Given the description of an element on the screen output the (x, y) to click on. 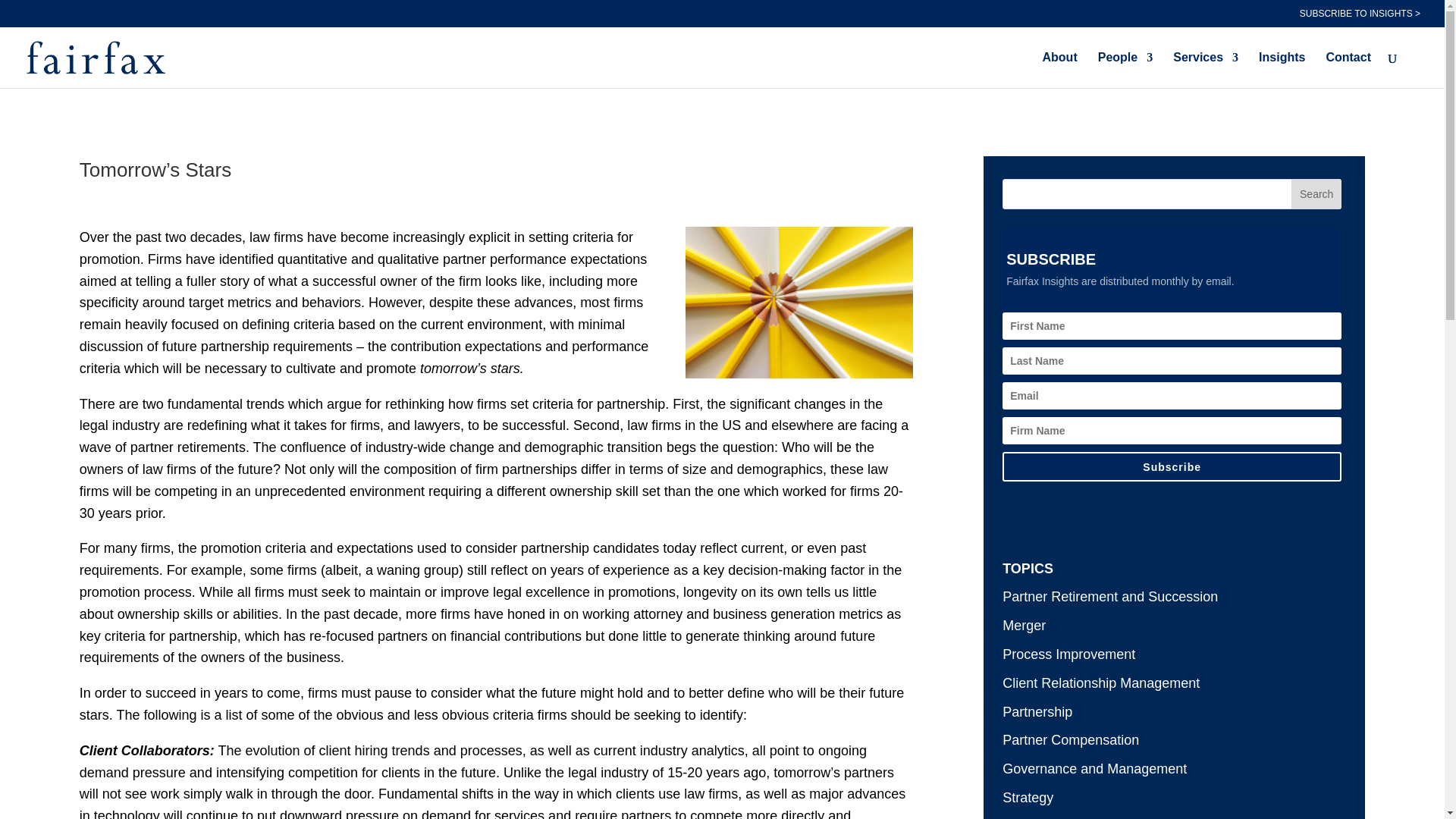
Insights (1281, 69)
Services (1206, 69)
Contact (1347, 69)
Subscribe (1171, 466)
Search (1315, 194)
Search (1315, 194)
Partner Retirement and Succession (1110, 595)
About (1059, 69)
Merger (1024, 624)
People (1125, 69)
